Given the description of an element on the screen output the (x, y) to click on. 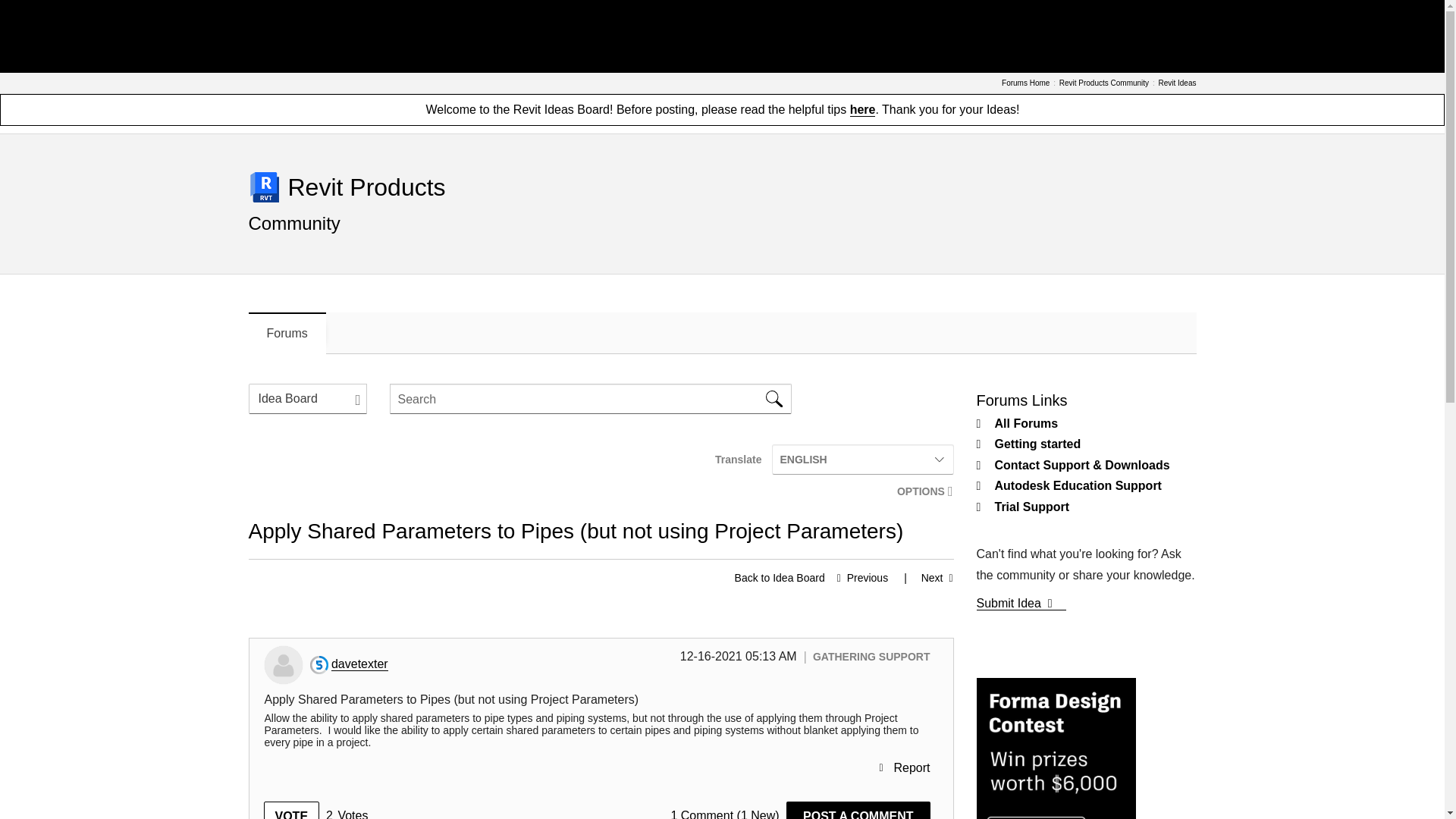
Search (774, 399)
Forums (287, 333)
Show option menu (919, 491)
Revit Ideas (1176, 82)
here (863, 110)
Attaching one floor to another non flat floor (858, 577)
POST A COMMENT (858, 810)
Report (904, 767)
Search (591, 399)
Search Granularity (307, 399)
